Given the description of an element on the screen output the (x, y) to click on. 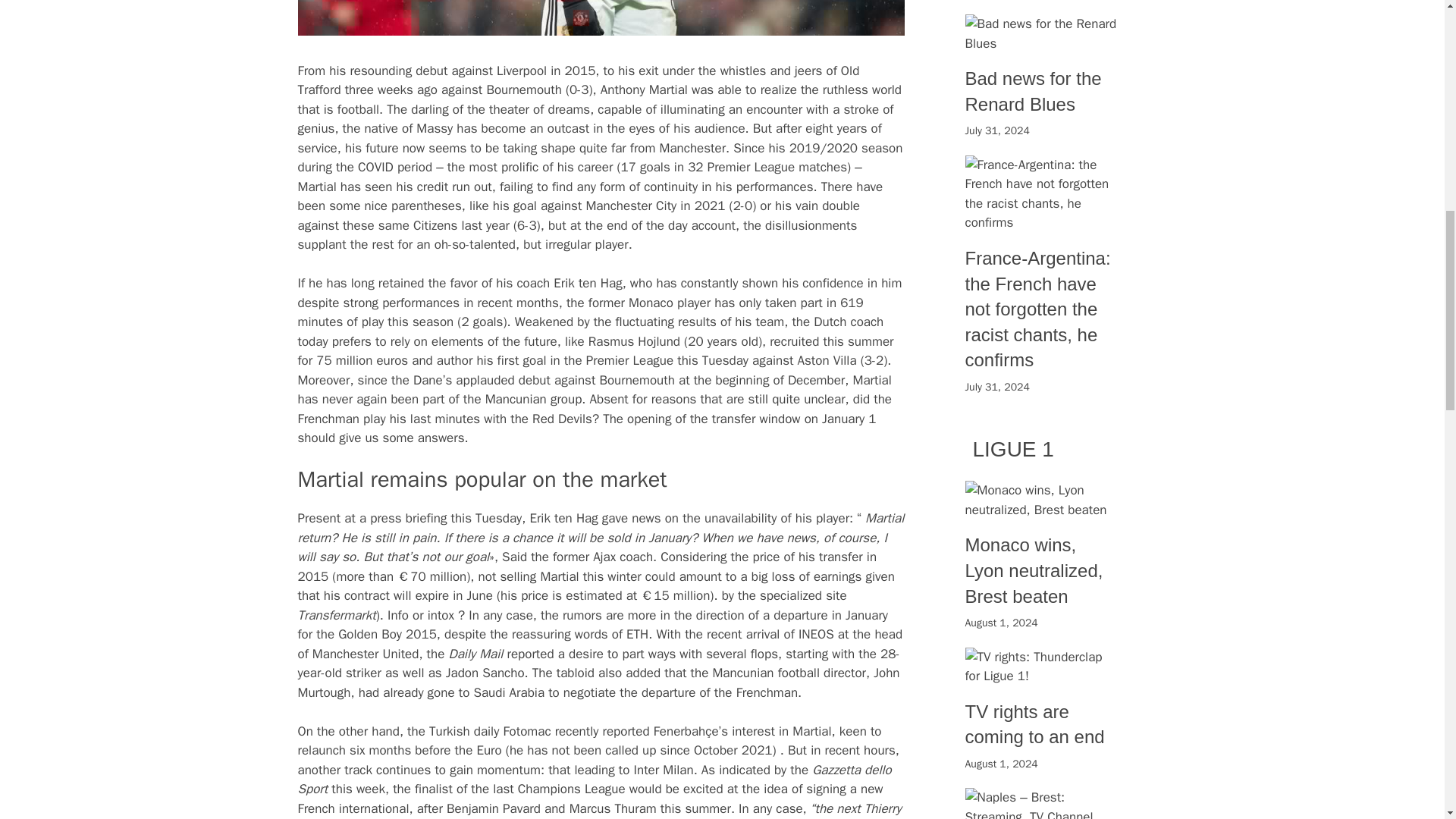
Scroll back to top (1406, 720)
